Given the description of an element on the screen output the (x, y) to click on. 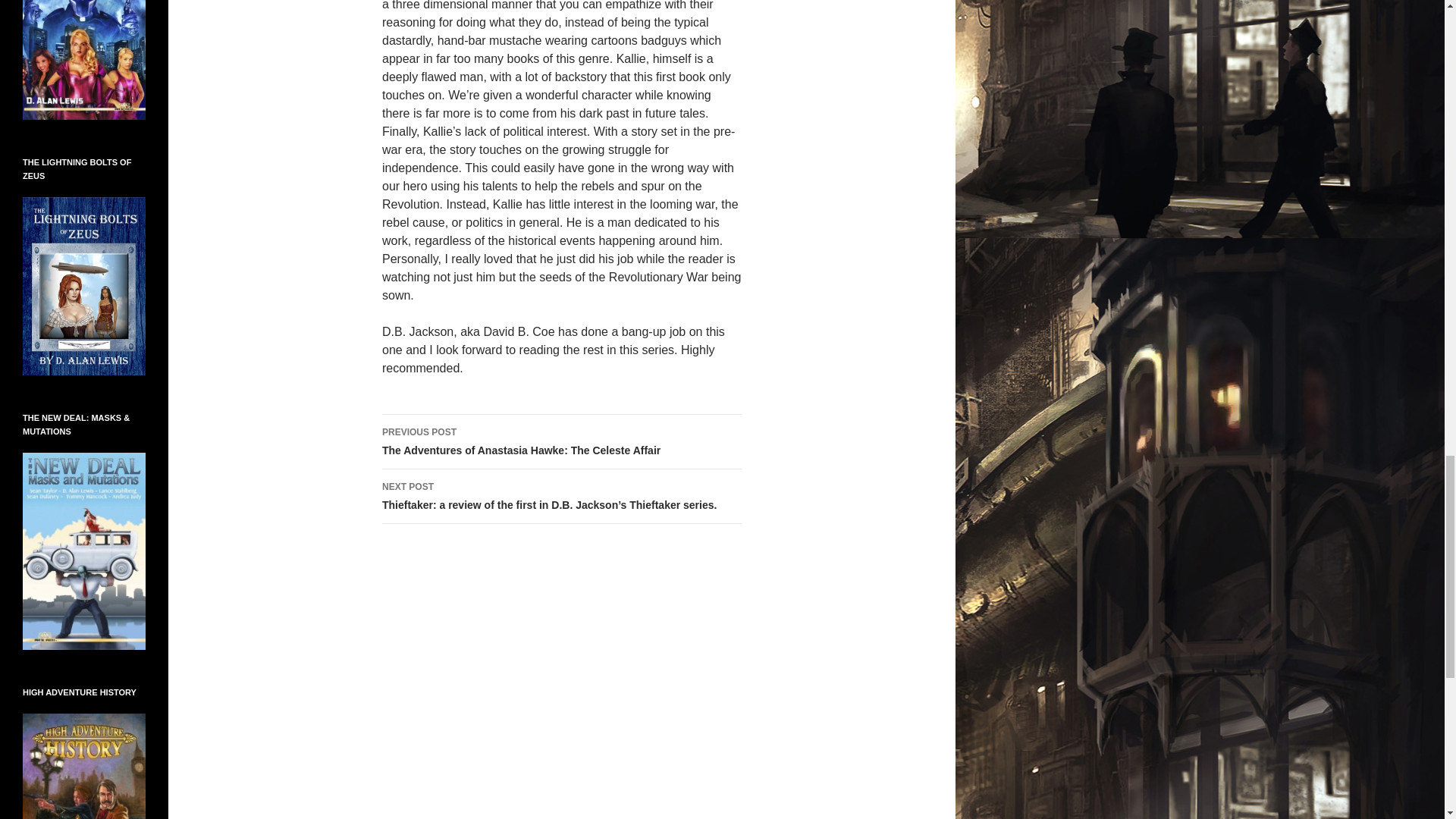
High Adventure History (84, 810)
The Bishop of Port Victoria (84, 24)
The Lightning Bolts of Zeus (84, 285)
